Given the description of an element on the screen output the (x, y) to click on. 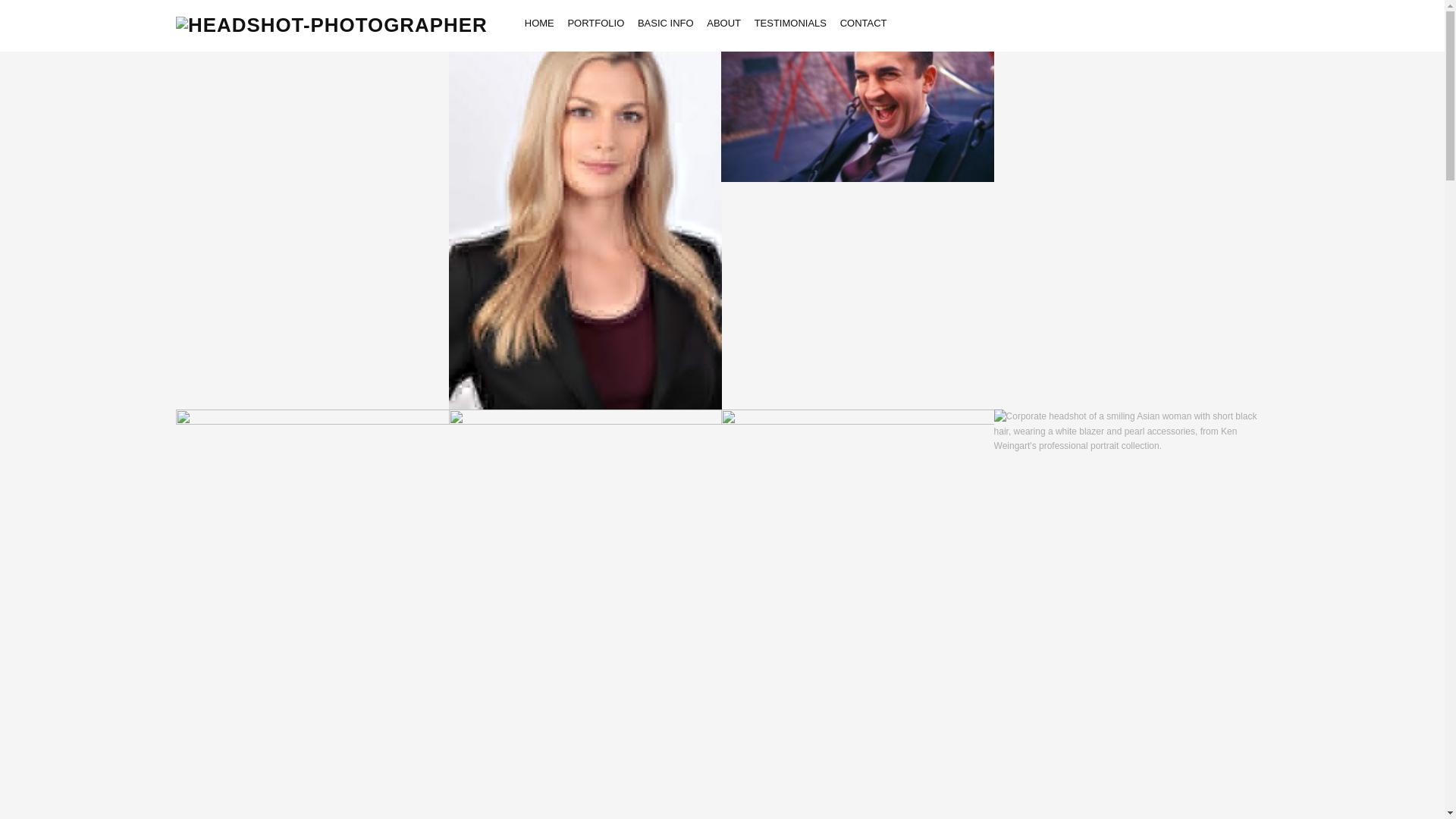
TESTIMONIALS (790, 23)
PORTFOLIO (595, 23)
BASIC INFO (665, 23)
HOME (539, 23)
ABOUT (723, 23)
CONTACT (863, 23)
